Given the description of an element on the screen output the (x, y) to click on. 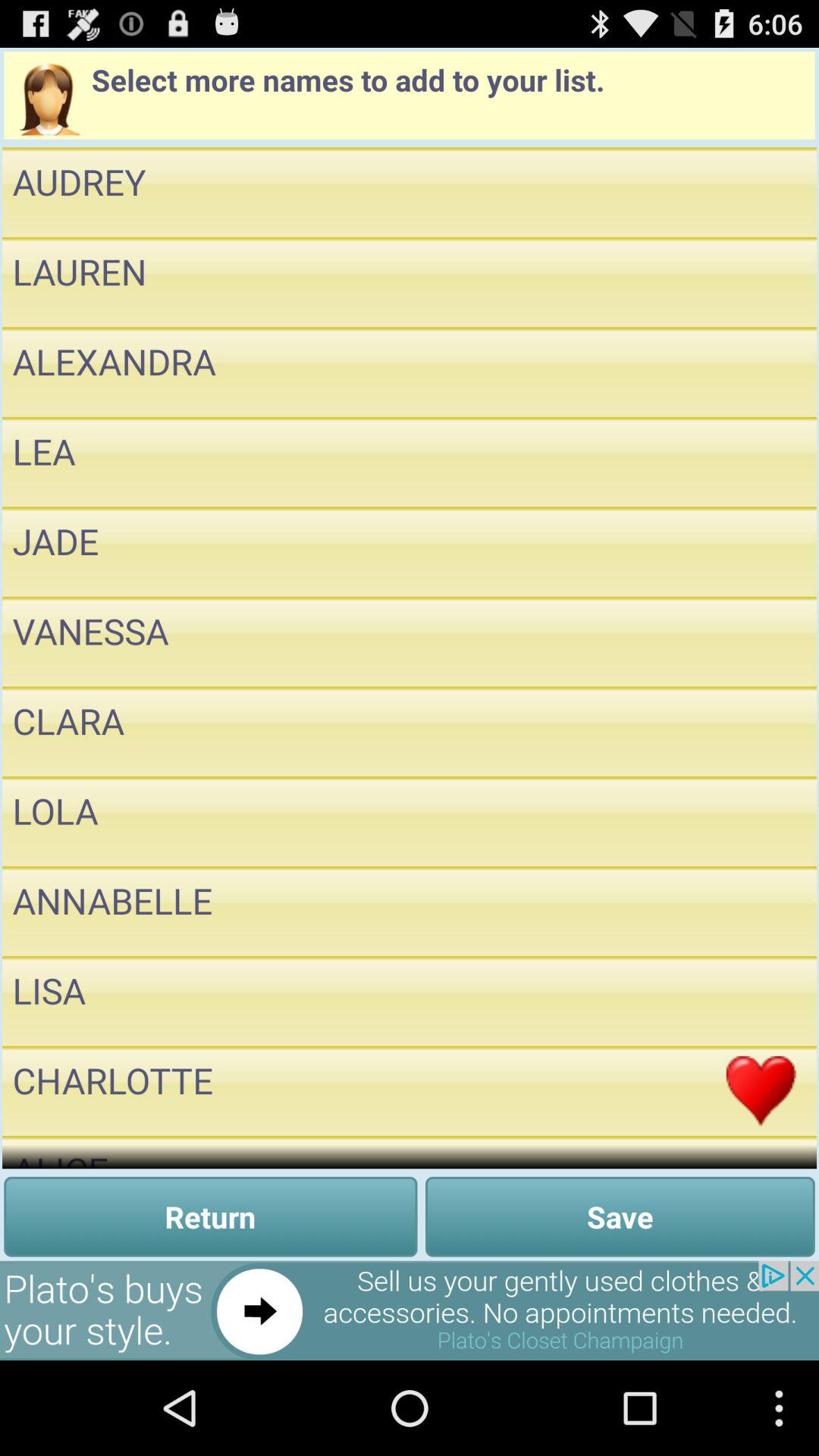
add to favorites (761, 821)
